Given the description of an element on the screen output the (x, y) to click on. 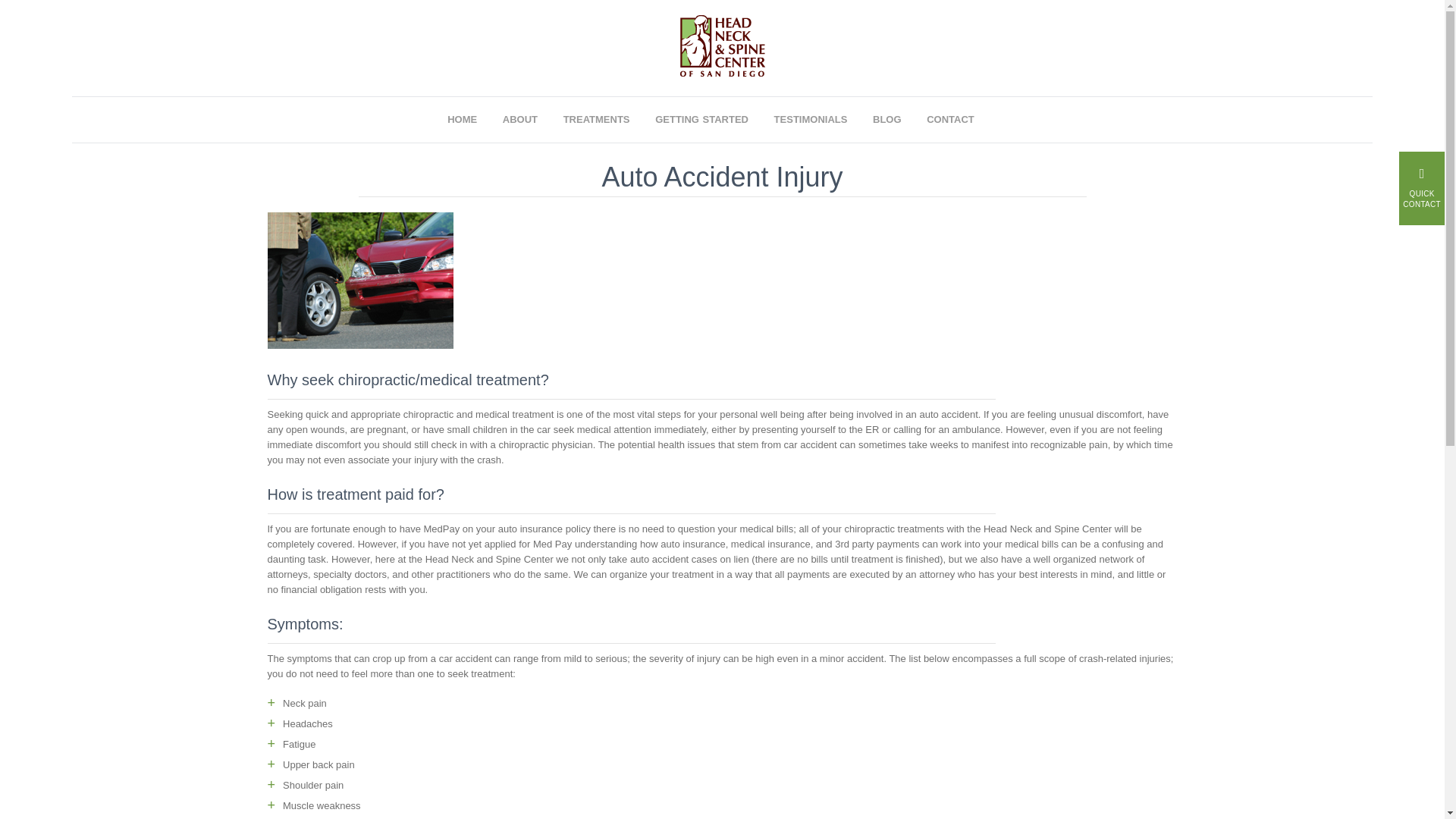
TREATMENTS (607, 122)
ABOUT (531, 122)
BLOG (898, 122)
TESTIMONIALS (822, 122)
HOME (472, 122)
CONTACT (961, 122)
GETTING STARTED (713, 122)
Chiropractor La Jolla (721, 88)
